Given the description of an element on the screen output the (x, y) to click on. 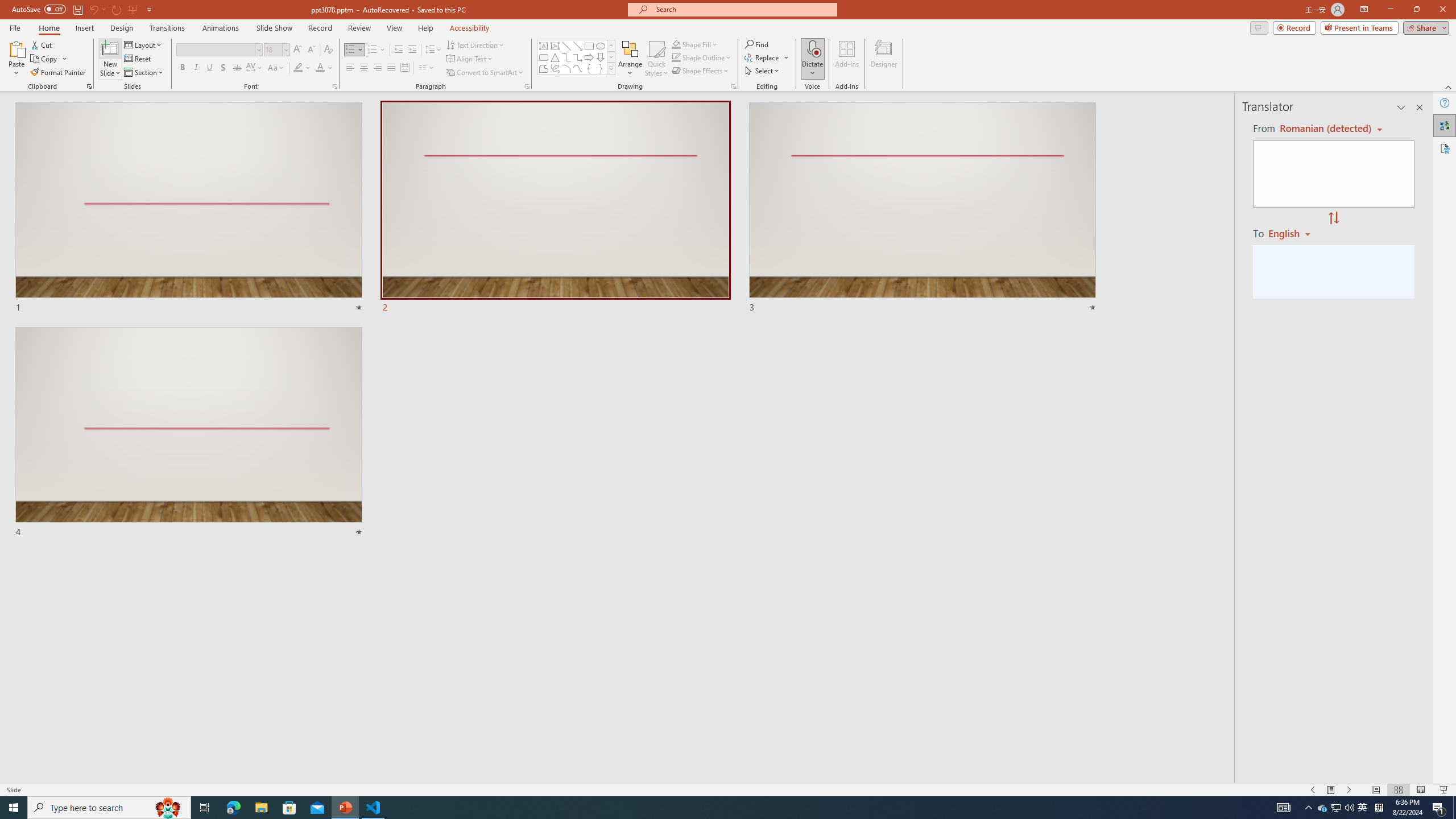
Left Brace (589, 68)
Clear Formatting (327, 49)
Align Right (377, 67)
Align Text (470, 58)
Increase Font Size (297, 49)
Text Direction (476, 44)
AutomationID: ShapesInsertGallery (576, 57)
